Given the description of an element on the screen output the (x, y) to click on. 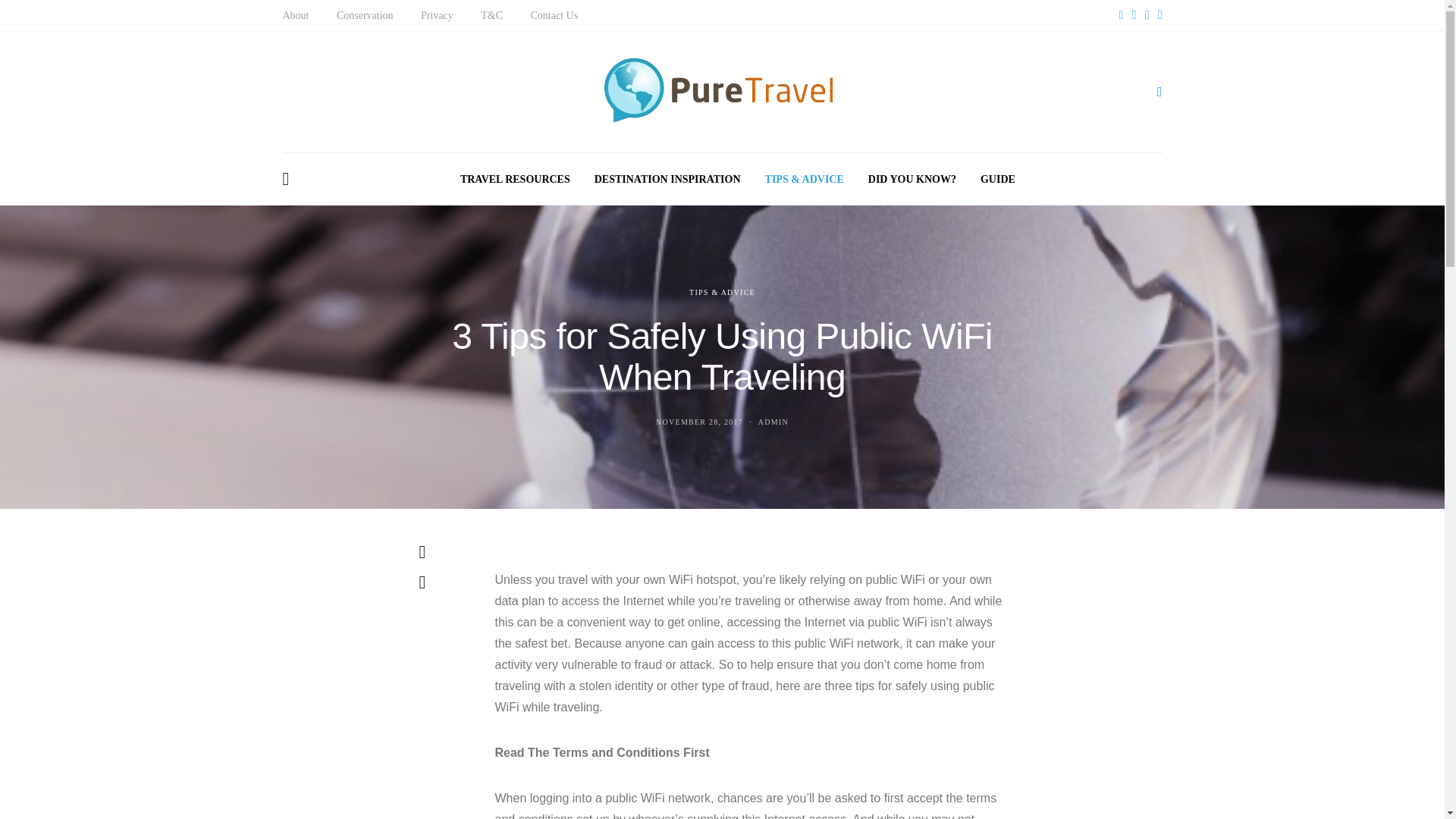
Conservation (364, 15)
About (295, 15)
ADMIN (773, 421)
DID YOU KNOW? (911, 178)
Contact Us (554, 15)
Privacy (436, 15)
NOVEMBER 28, 2017 (699, 421)
DESTINATION INSPIRATION (667, 178)
TRAVEL RESOURCES (515, 178)
View all posts by admin (773, 421)
